Given the description of an element on the screen output the (x, y) to click on. 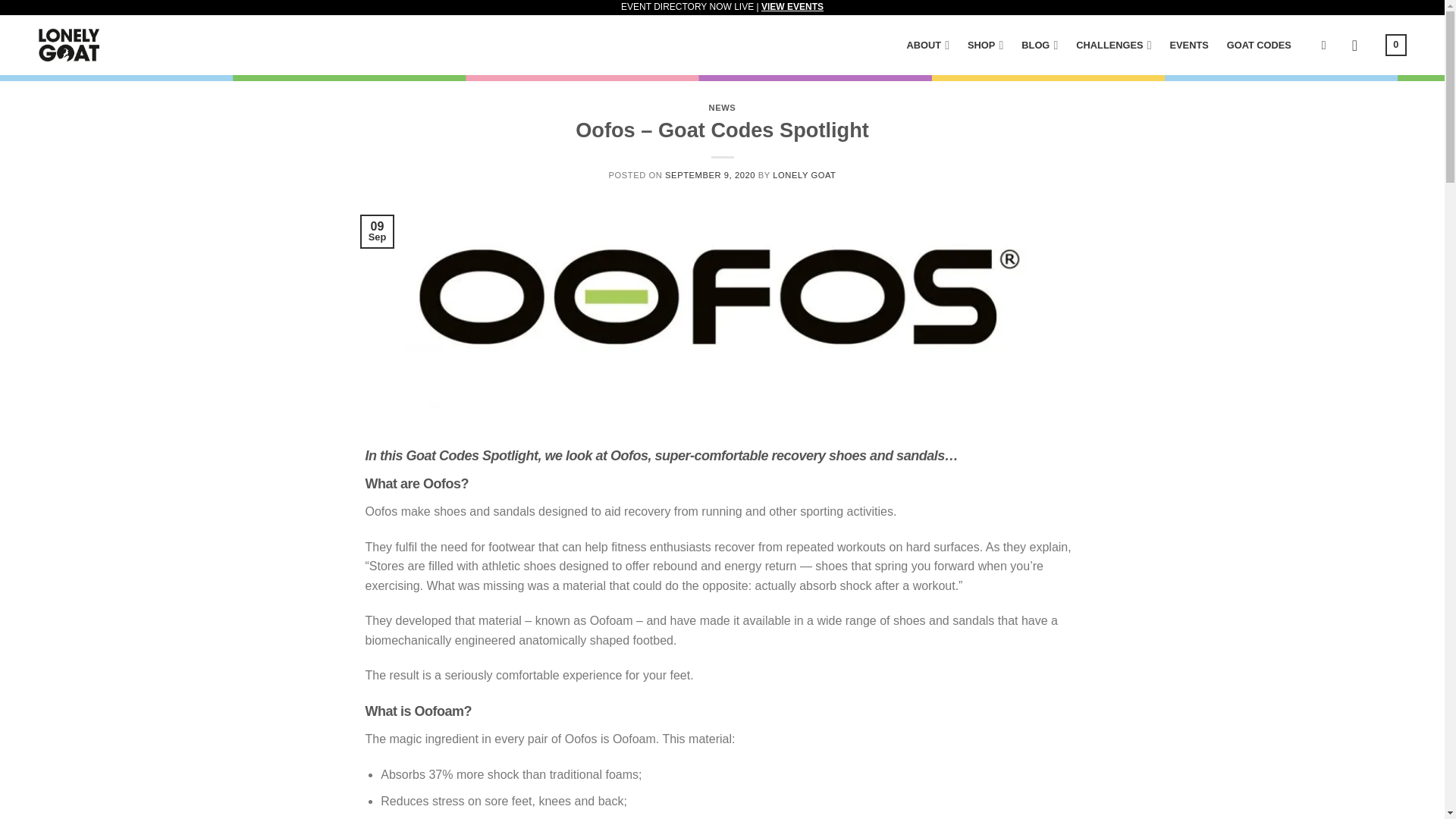
SEPTEMBER 9, 2020 (710, 174)
ABOUT (924, 44)
GOAT CODES (1255, 45)
Lonely Goat - Online Running Club (68, 45)
BLOG (1035, 44)
SHOP (981, 44)
LONELY GOAT (804, 174)
CHALLENGES (1109, 44)
VIEW EVENTS (792, 6)
EVENTS (1184, 45)
NEWS (722, 107)
